Given the description of an element on the screen output the (x, y) to click on. 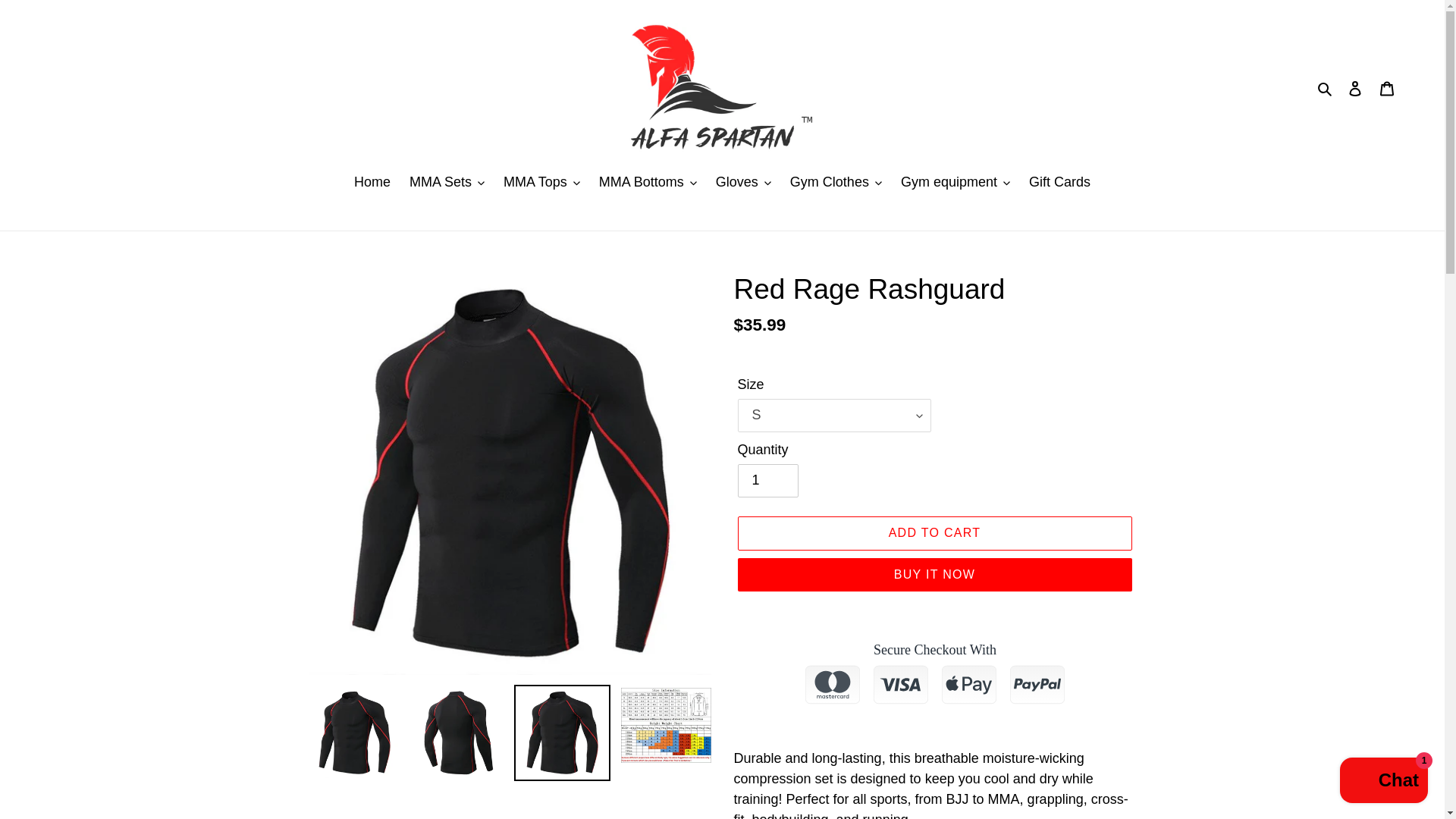
Search (1326, 87)
Log in (1355, 87)
trust-badges-widget (934, 678)
Cart (1387, 87)
1 (766, 480)
Shopify online store chat (1383, 781)
